Given the description of an element on the screen output the (x, y) to click on. 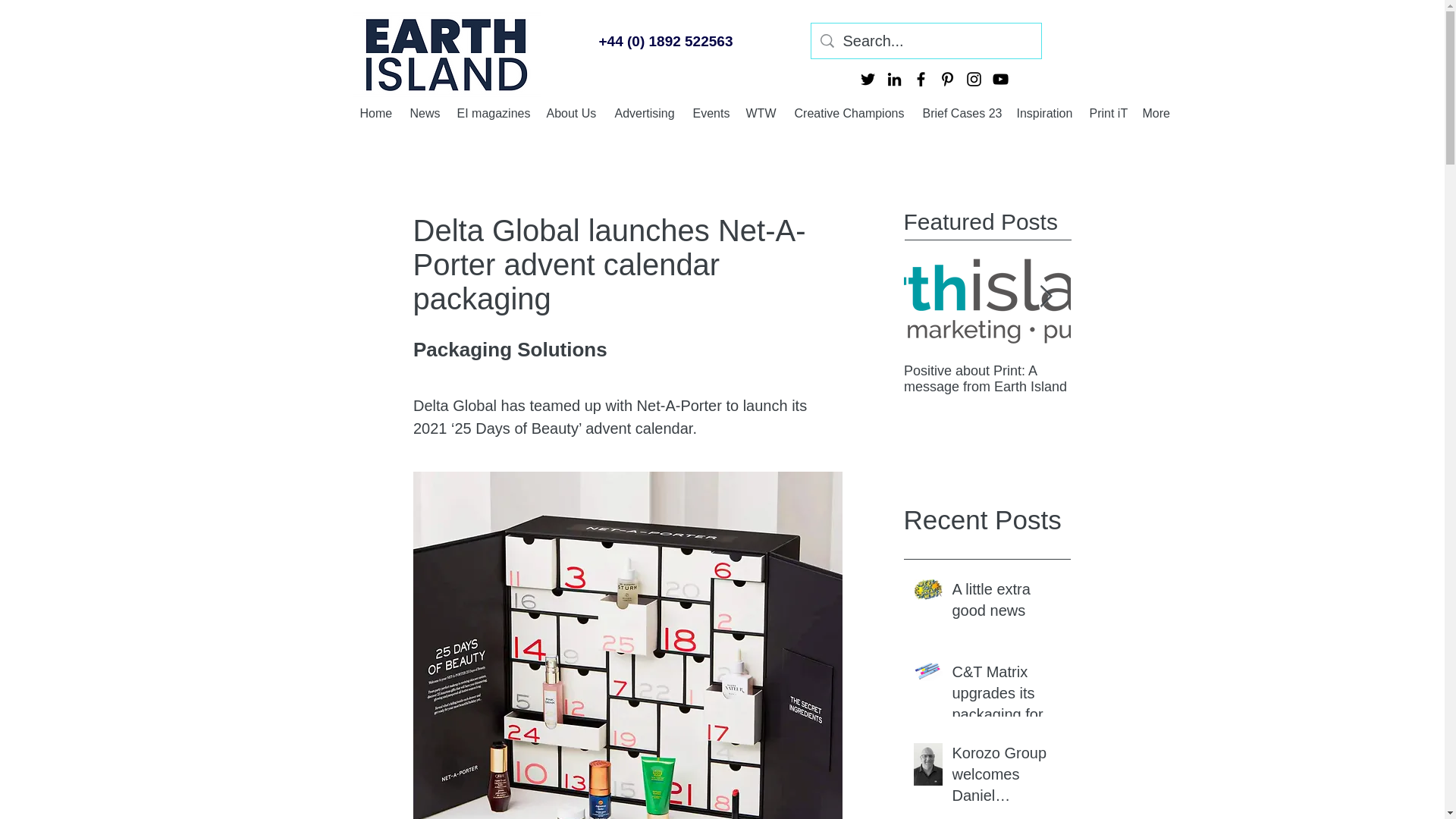
Positive about Print: A message from Earth Island (987, 377)
Positive about Print: A message from Earth Island (1153, 377)
About Us (572, 112)
Inspiration (1045, 112)
Advertising (645, 112)
WTW (762, 112)
Home (376, 112)
Events (711, 112)
Creative Champions (851, 112)
EI magazines (493, 112)
